Given the description of an element on the screen output the (x, y) to click on. 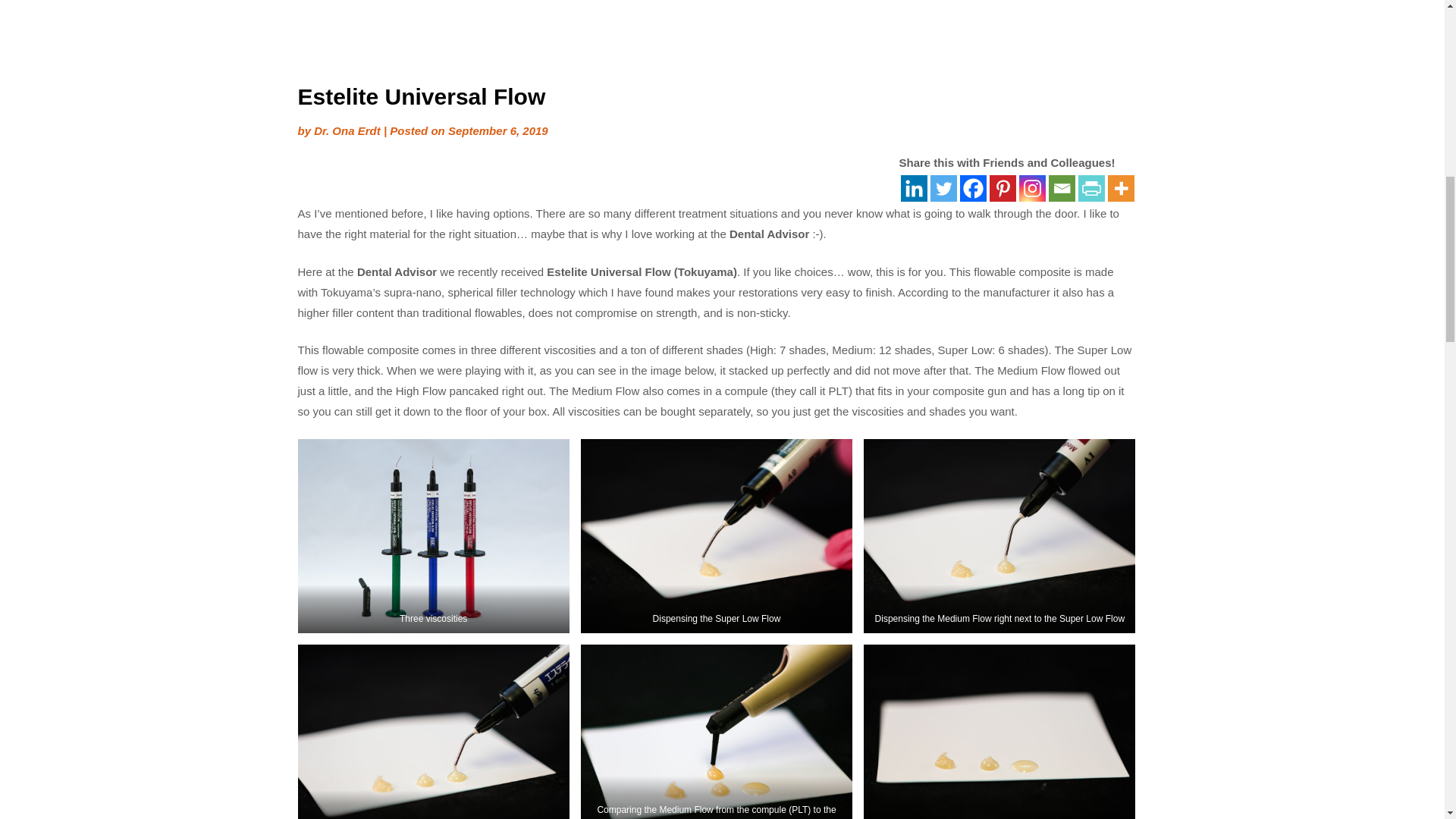
PrintFriendly (1091, 188)
Dr. Ona Erdt (347, 130)
Instagram (1032, 188)
Pinterest (1001, 188)
More (1120, 188)
Linkedin (914, 188)
Twitter (943, 188)
Facebook (973, 188)
September 6, 2019 (498, 130)
Email (1061, 188)
